Given the description of an element on the screen output the (x, y) to click on. 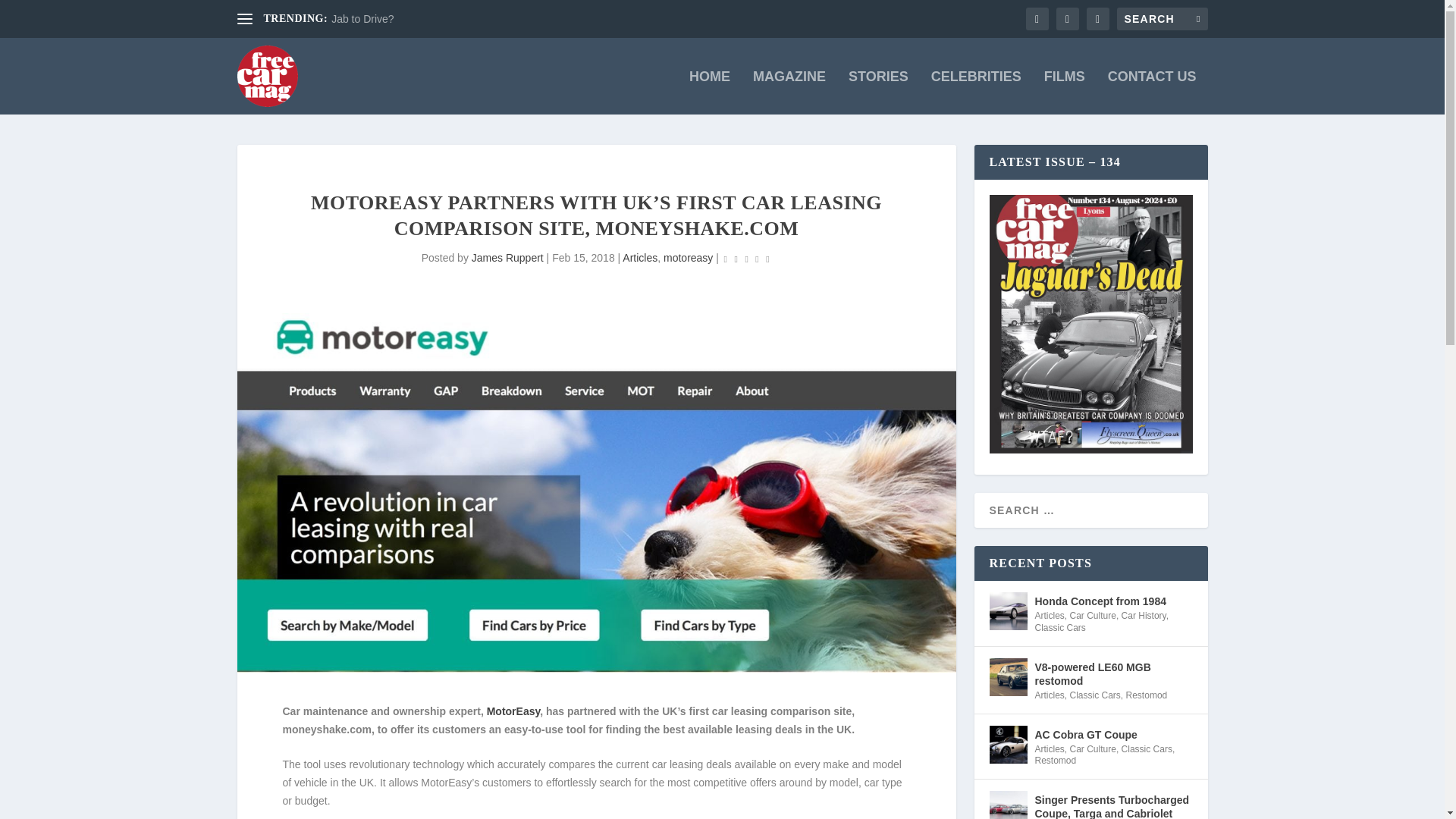
MAGAZINE (788, 92)
Rating: 0.00 (746, 258)
HOME (709, 92)
FILMS (1063, 92)
motoreasy (688, 257)
Search for: (1161, 18)
Articles (640, 257)
CONTACT US (1152, 92)
Jab to Drive? (362, 19)
CELEBRITIES (976, 92)
